Given the description of an element on the screen output the (x, y) to click on. 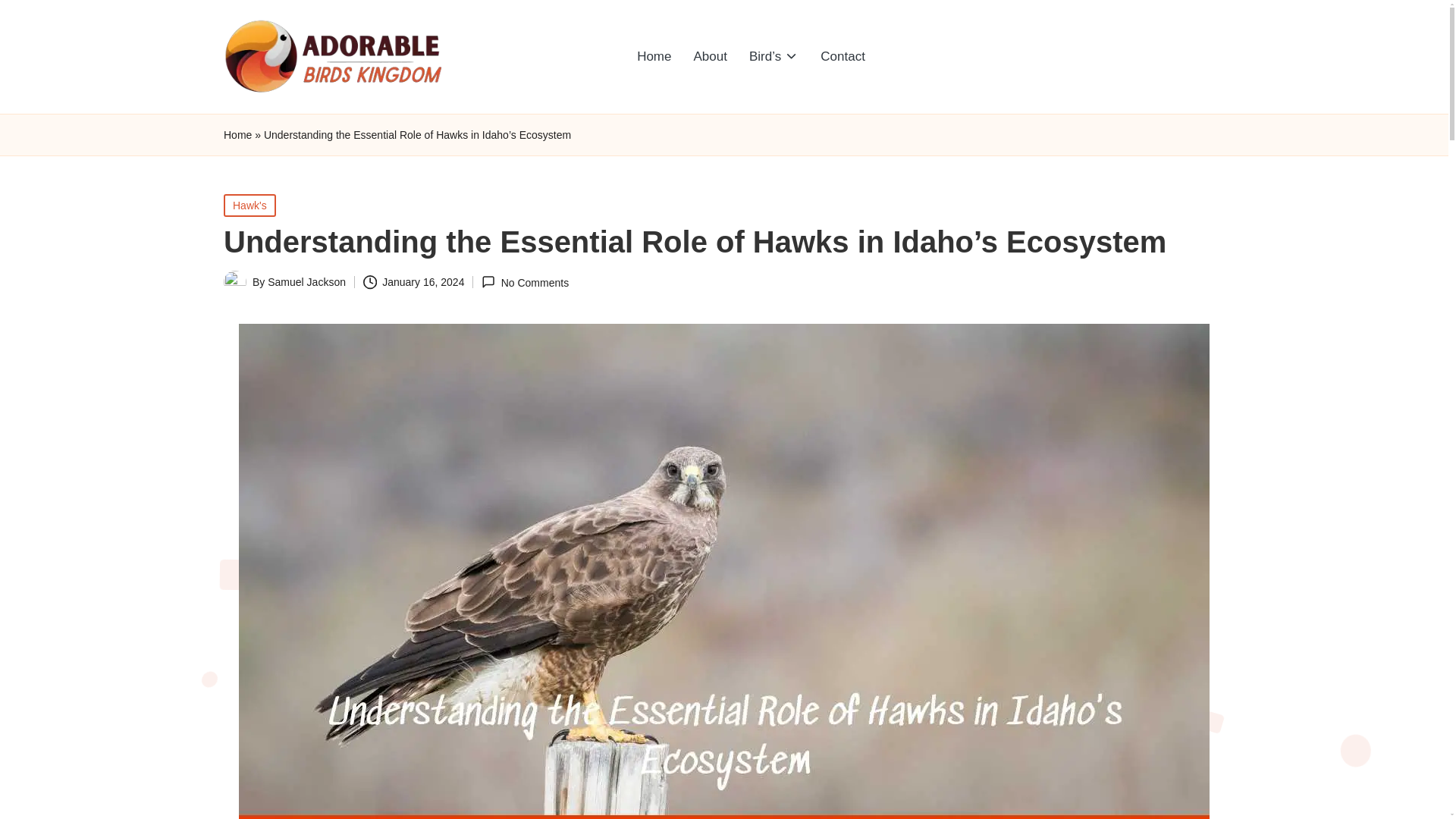
Home (653, 56)
About (709, 56)
View all posts by Samuel Jackson (306, 282)
Samuel Jackson (306, 282)
Hawk's (250, 205)
Contact (842, 56)
No Comments (525, 282)
Home (237, 135)
